Given the description of an element on the screen output the (x, y) to click on. 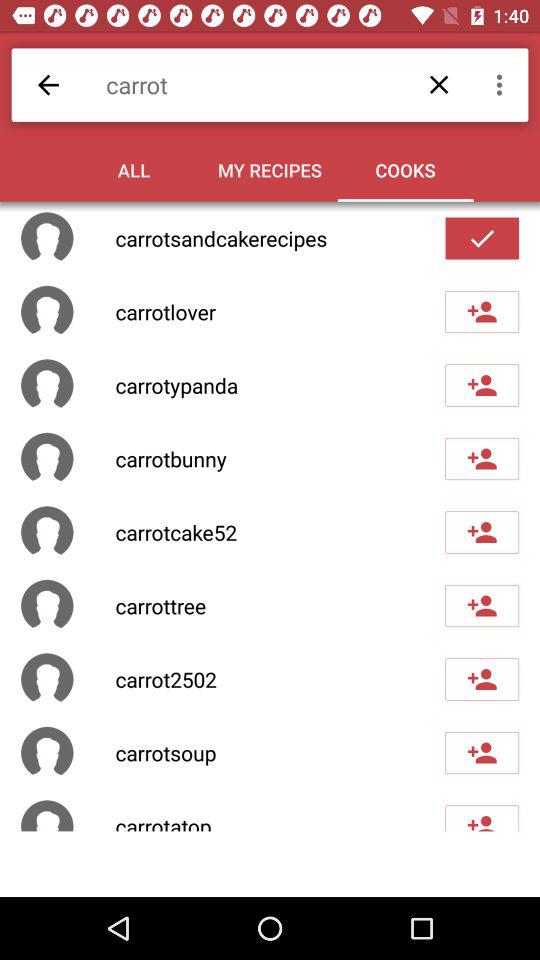
click the (482, 238)
